Given the description of an element on the screen output the (x, y) to click on. 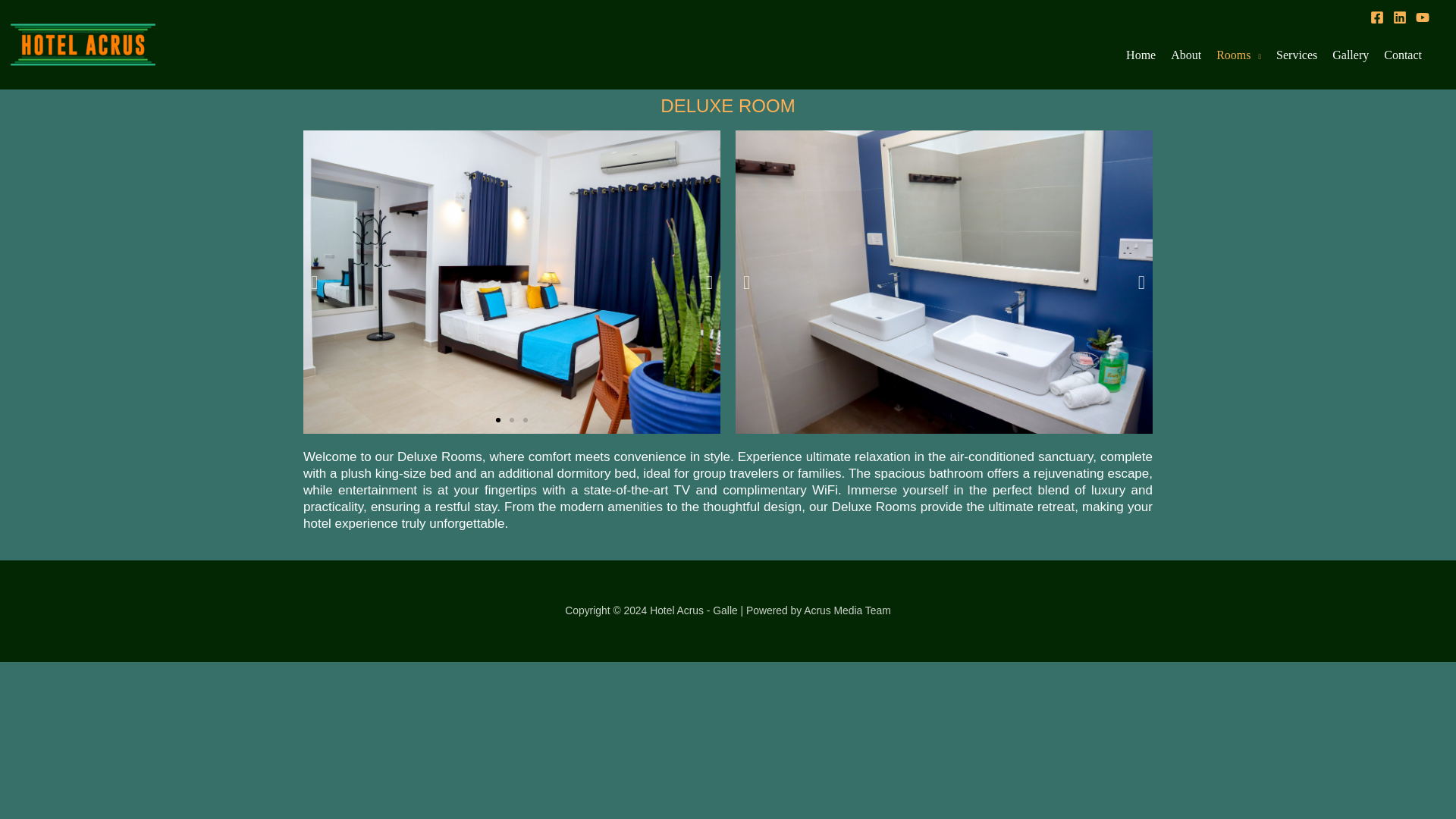
Gallery (1349, 55)
Contact (1402, 55)
Services (1296, 55)
Rooms (1238, 55)
About (1185, 55)
Home (1140, 55)
